Given the description of an element on the screen output the (x, y) to click on. 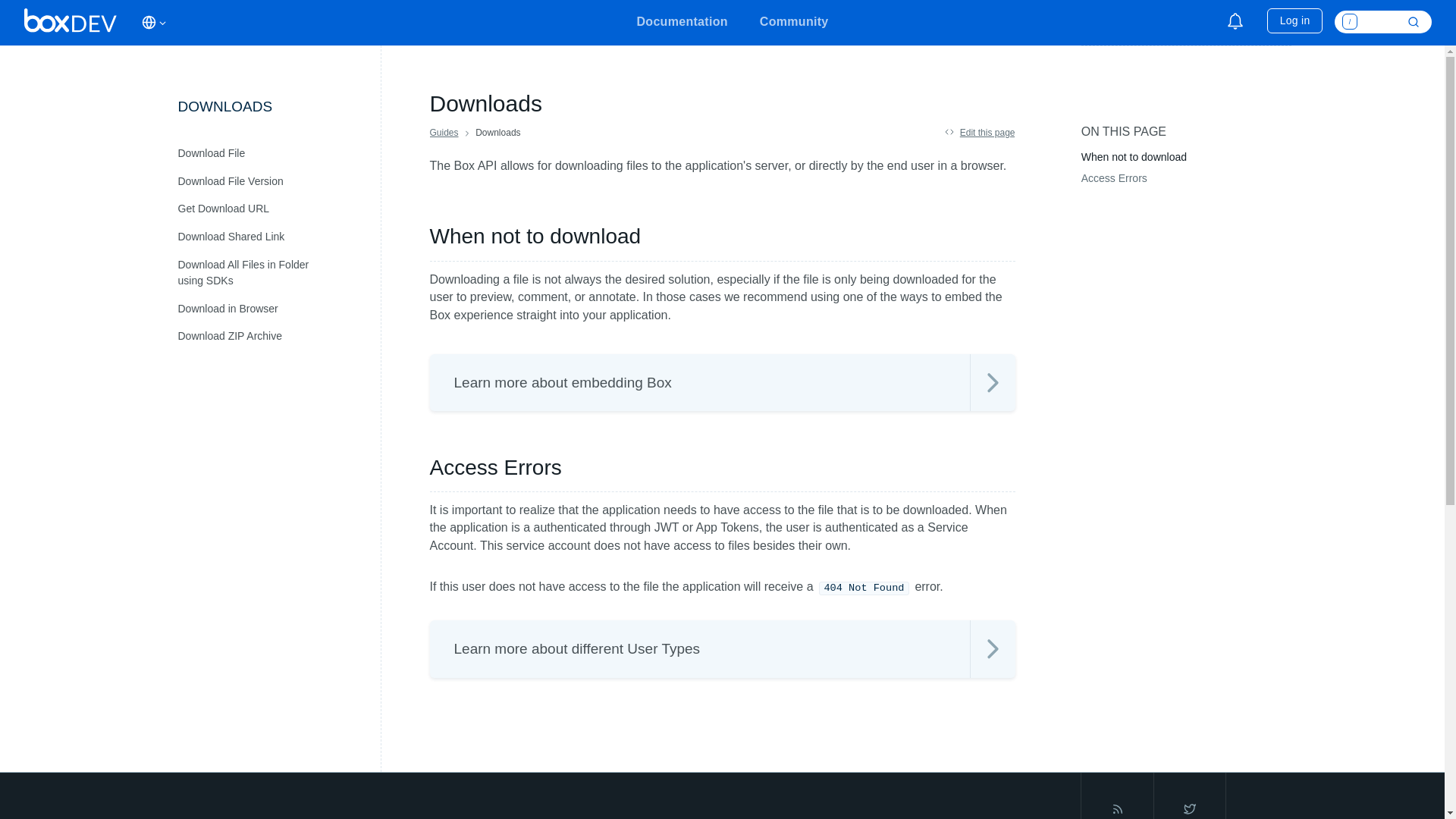
Download Shared Link (266, 236)
Download ZIP Archive (266, 336)
Log in (1294, 20)
Get Download URL (266, 208)
Download File Version (266, 181)
Download File (266, 153)
Download in Browser (266, 308)
Log in (1294, 20)
Community (794, 24)
Download All Files in Folder using SDKs (266, 272)
DOWNLOADS (266, 113)
